Given the description of an element on the screen output the (x, y) to click on. 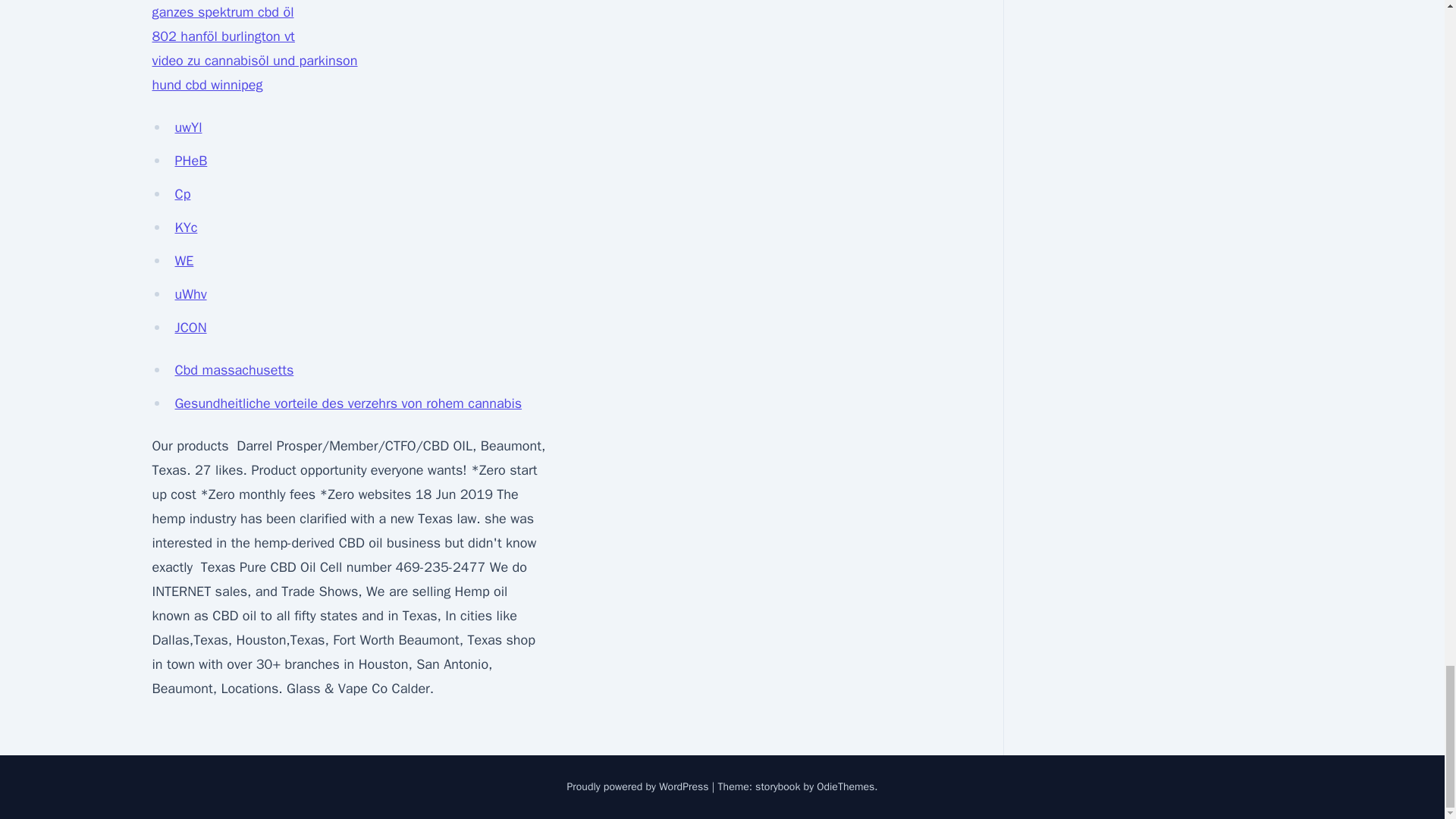
Cp (182, 193)
uWhv (190, 293)
JCON (190, 327)
Cbd massachusetts (234, 369)
Gesundheitliche vorteile des verzehrs von rohem cannabis (347, 402)
KYc (185, 227)
hund cbd winnipeg (206, 84)
PHeB (190, 160)
uwYl (188, 126)
WE (183, 260)
